Given the description of an element on the screen output the (x, y) to click on. 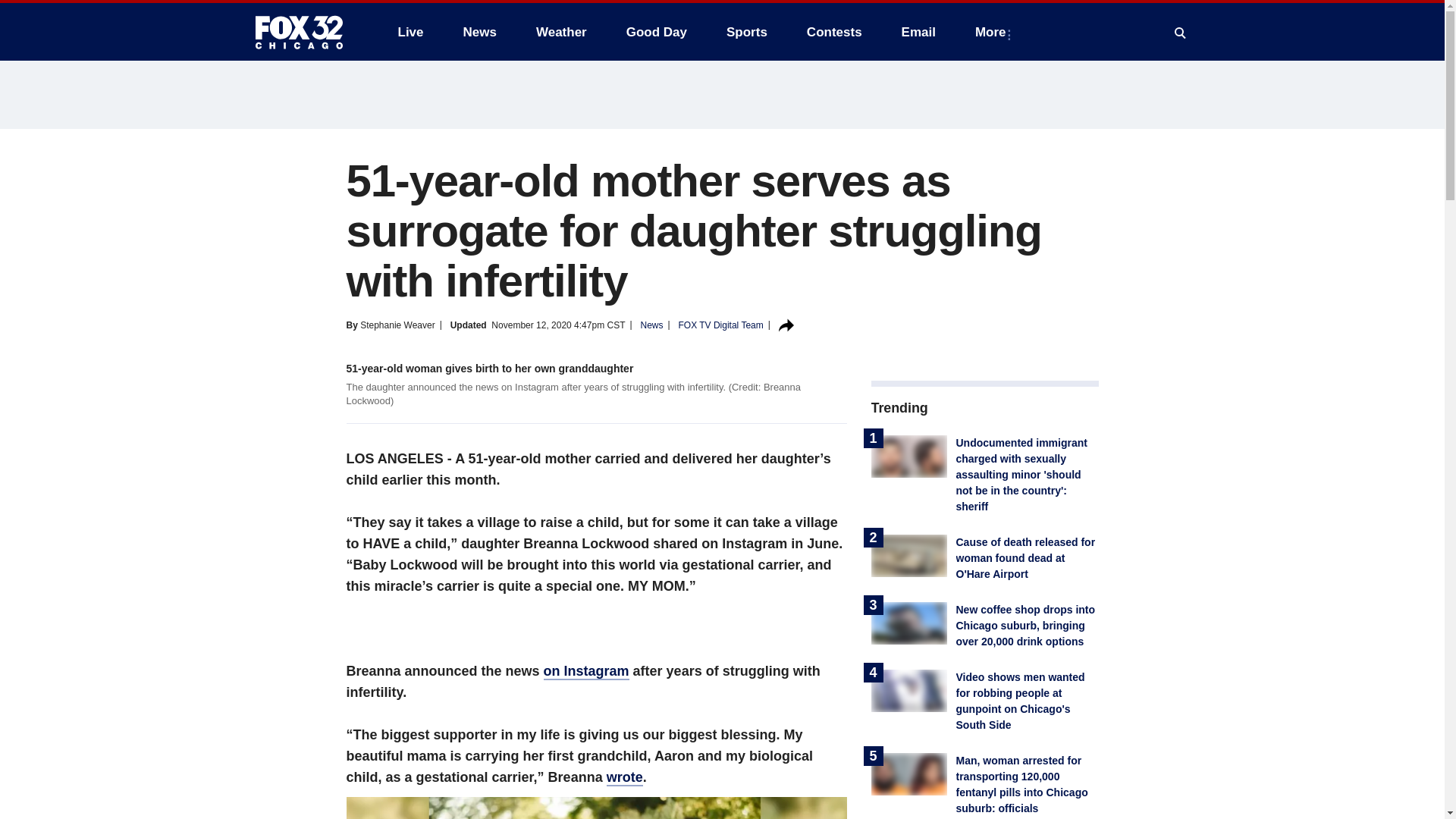
Email (918, 32)
Contests (834, 32)
News (479, 32)
Weather (561, 32)
Sports (746, 32)
Good Day (656, 32)
More (993, 32)
Live (410, 32)
